Given the description of an element on the screen output the (x, y) to click on. 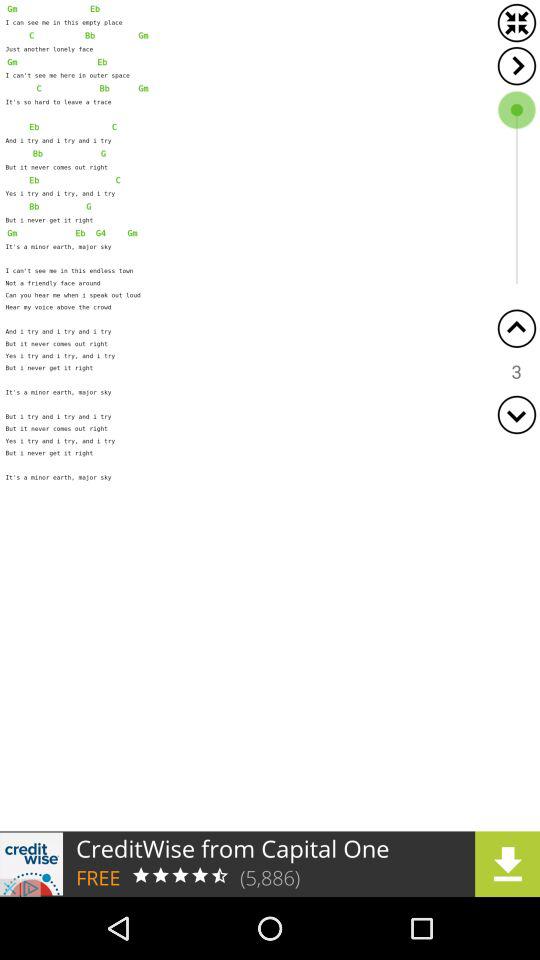
go to advertisement (270, 864)
